Given the description of an element on the screen output the (x, y) to click on. 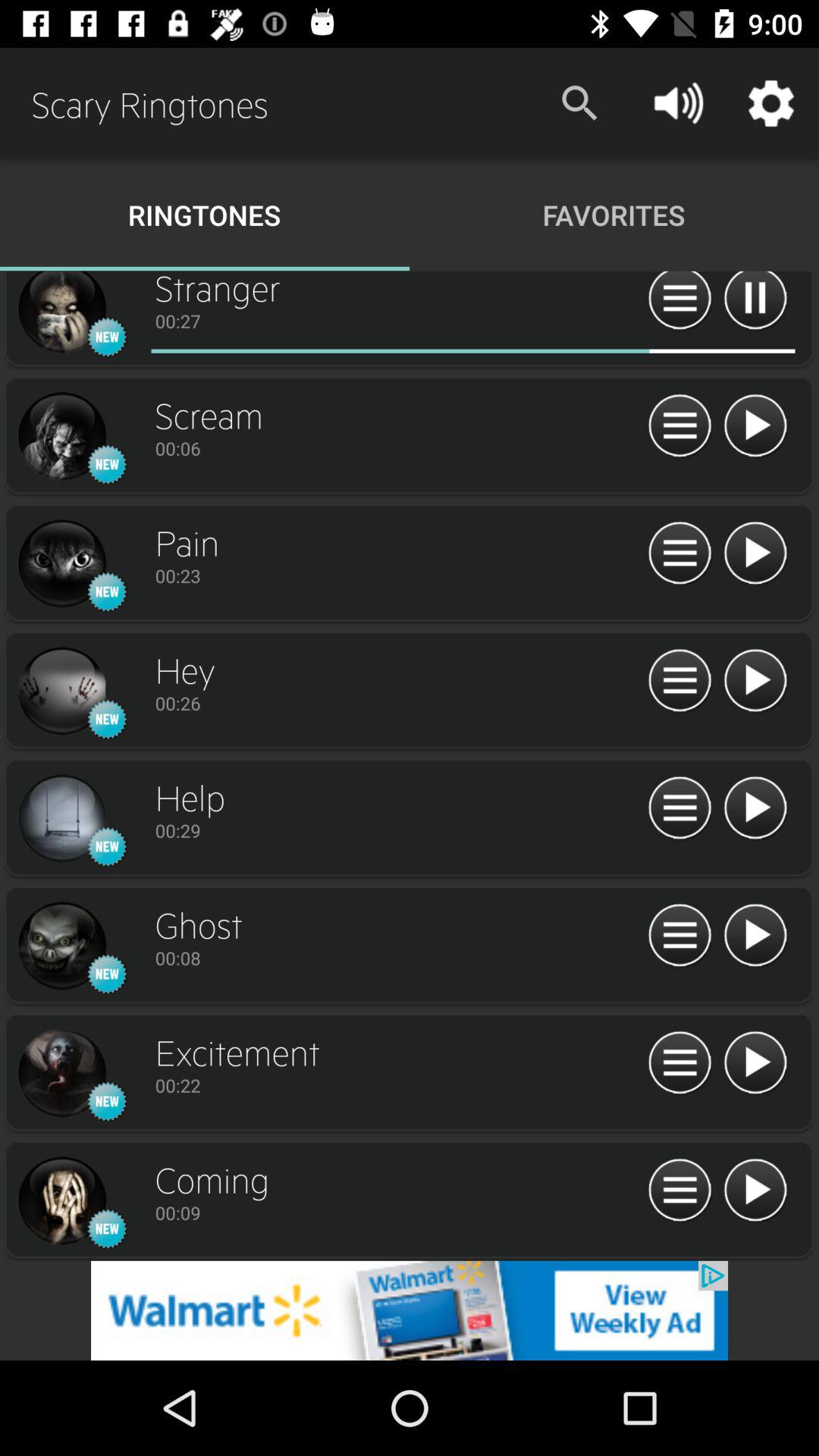
user photo (61, 436)
